Given the description of an element on the screen output the (x, y) to click on. 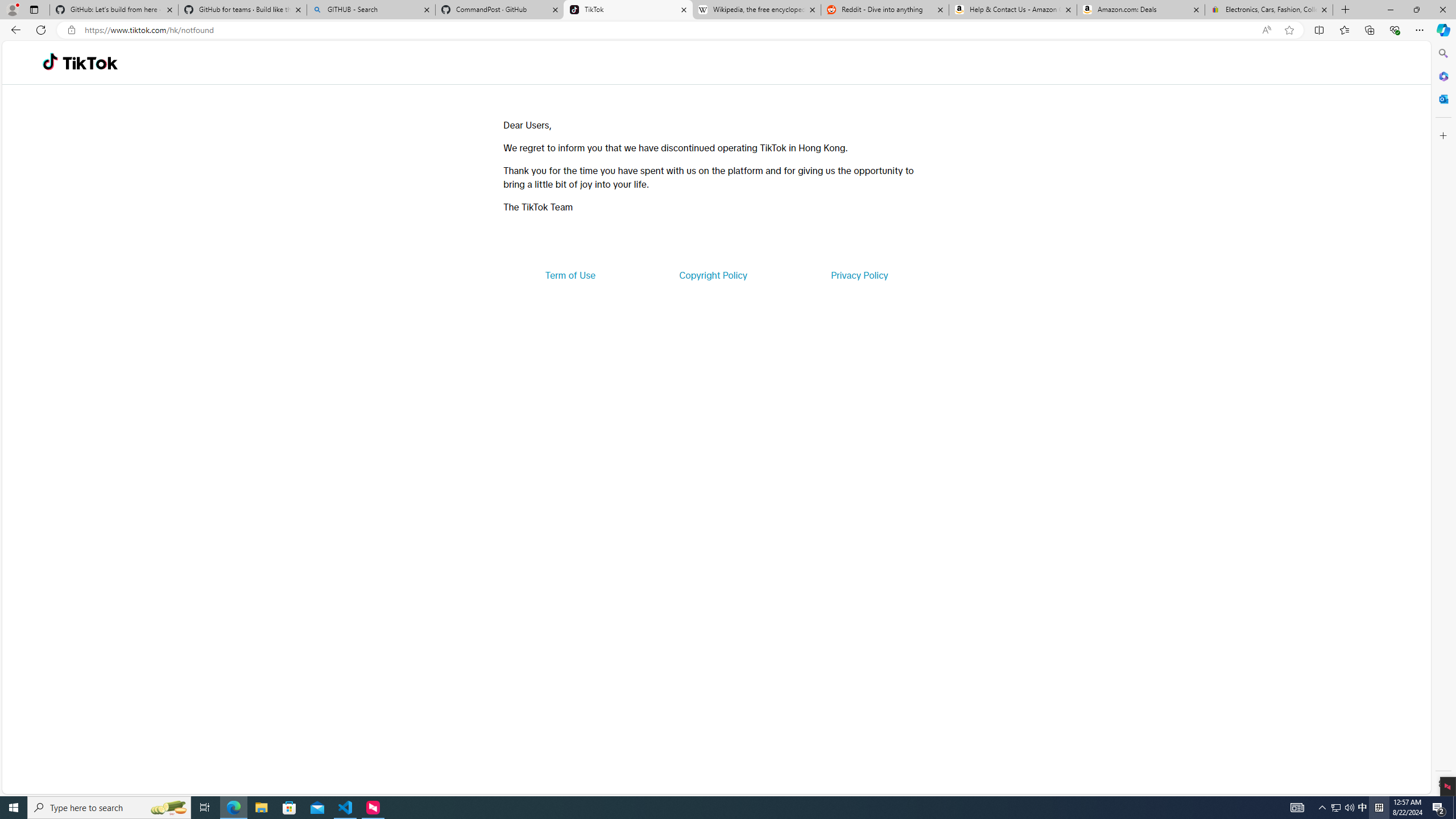
GITHUB - Search (370, 9)
Privacy Policy (858, 274)
